Given the description of an element on the screen output the (x, y) to click on. 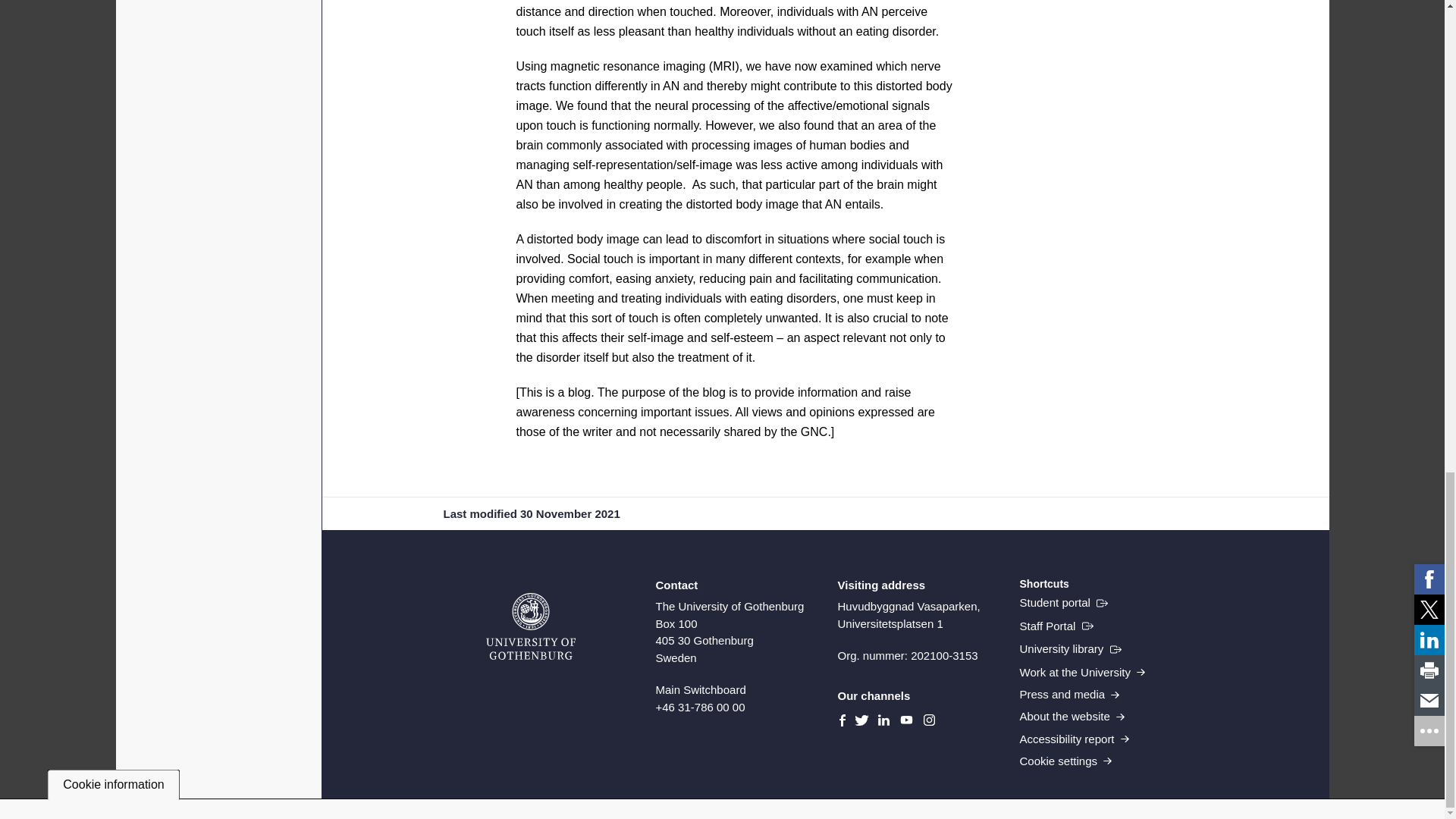
External link (1056, 626)
External link (1063, 602)
External link (1070, 649)
